Given the description of an element on the screen output the (x, y) to click on. 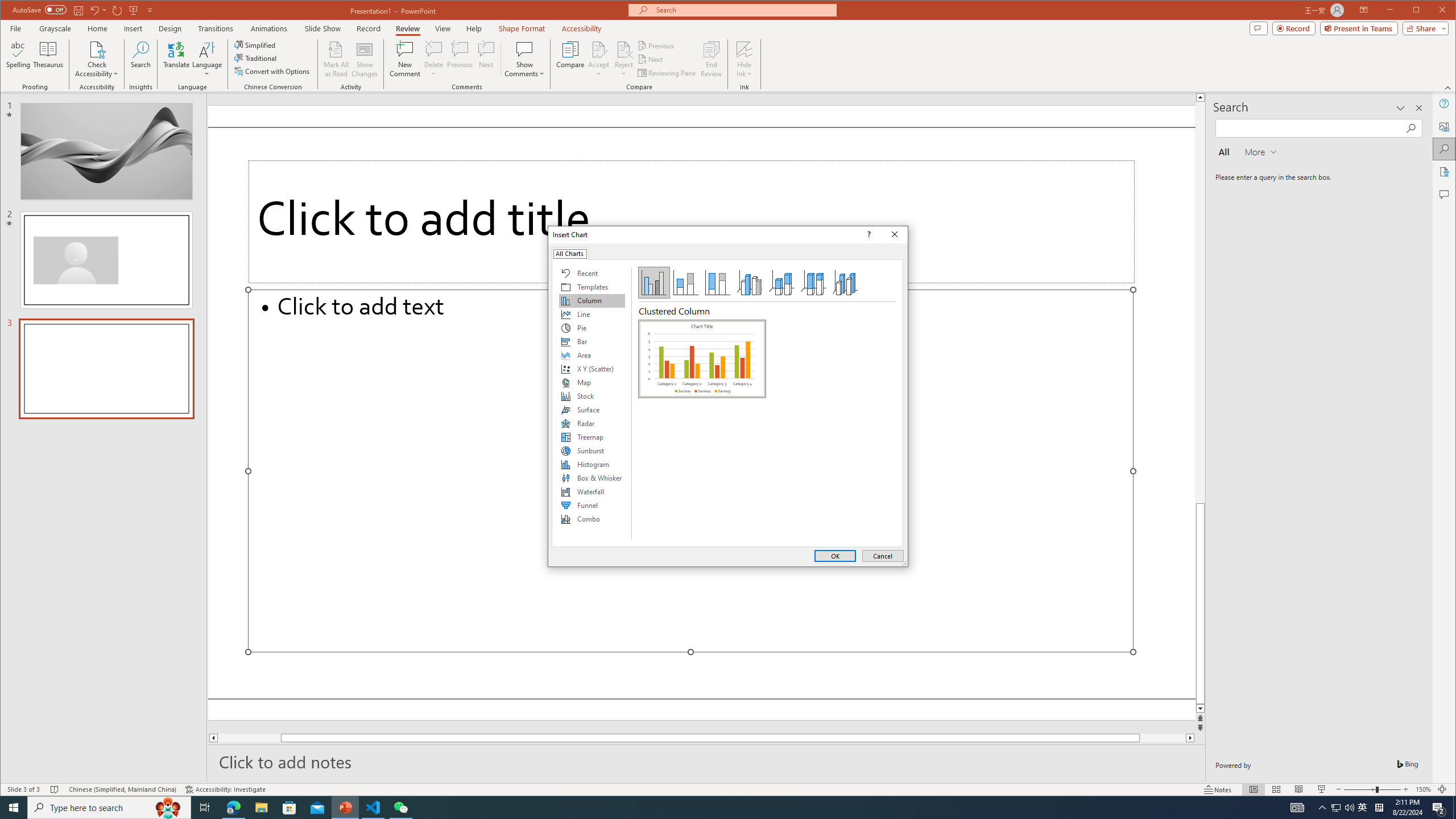
Traditional (256, 57)
Reject (623, 59)
Treemap (591, 436)
Chart Types (591, 403)
